Given the description of an element on the screen output the (x, y) to click on. 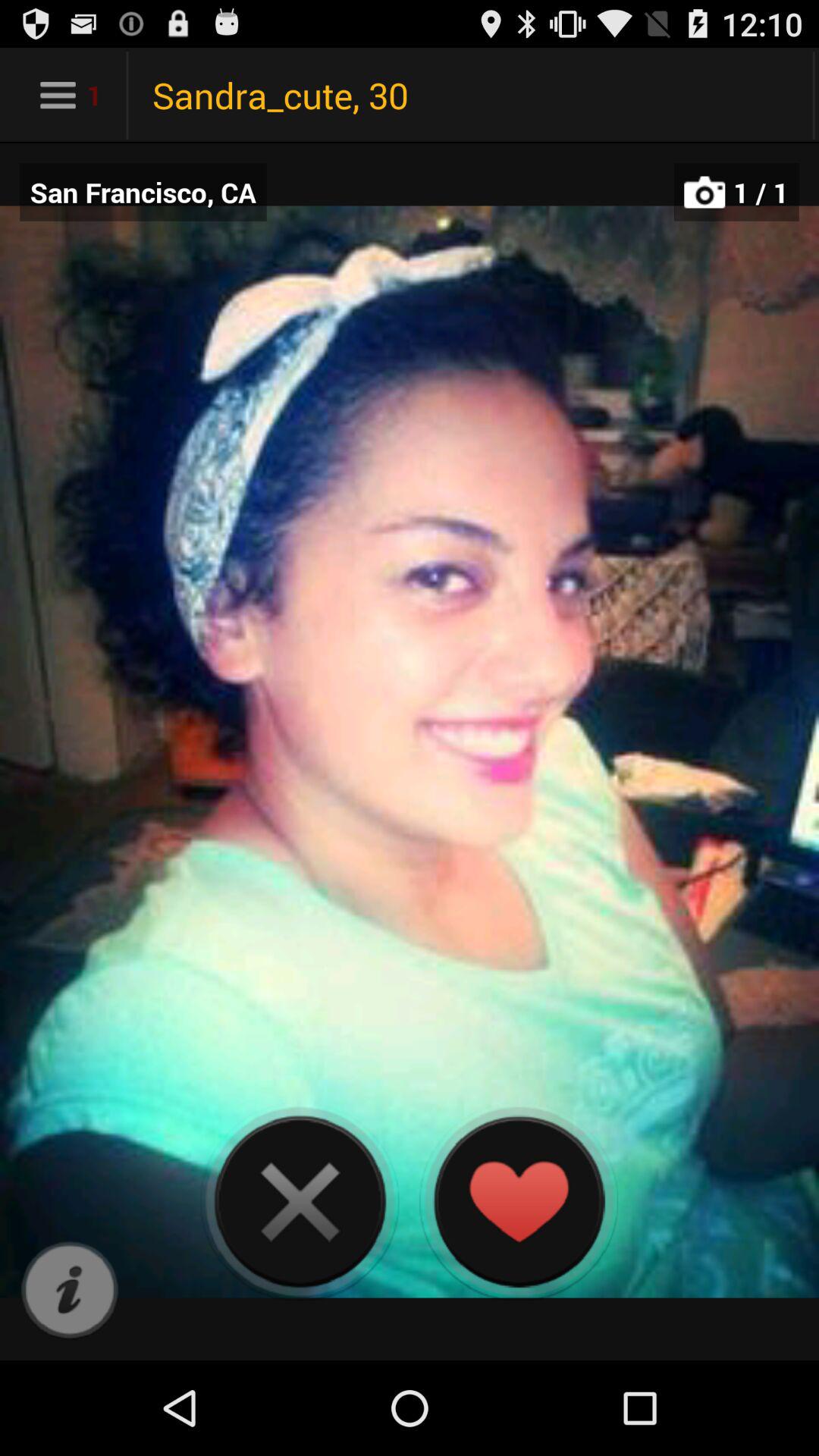
information icon (69, 1290)
